Given the description of an element on the screen output the (x, y) to click on. 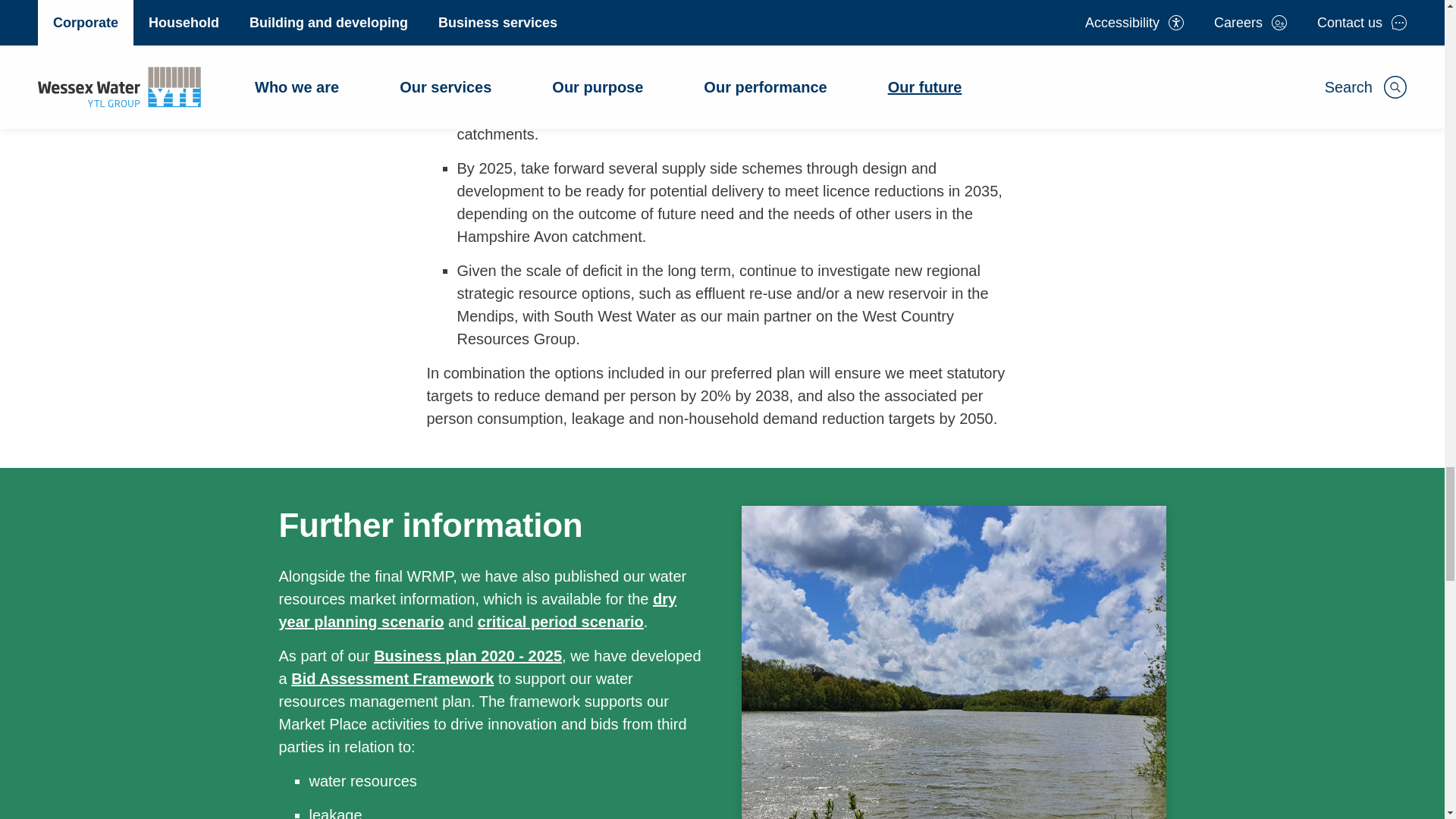
Business plan 2020-2025 (468, 655)
Water Resources Market Information DYAA (478, 609)
Water Resources Market Information DYCP (560, 621)
